Given the description of an element on the screen output the (x, y) to click on. 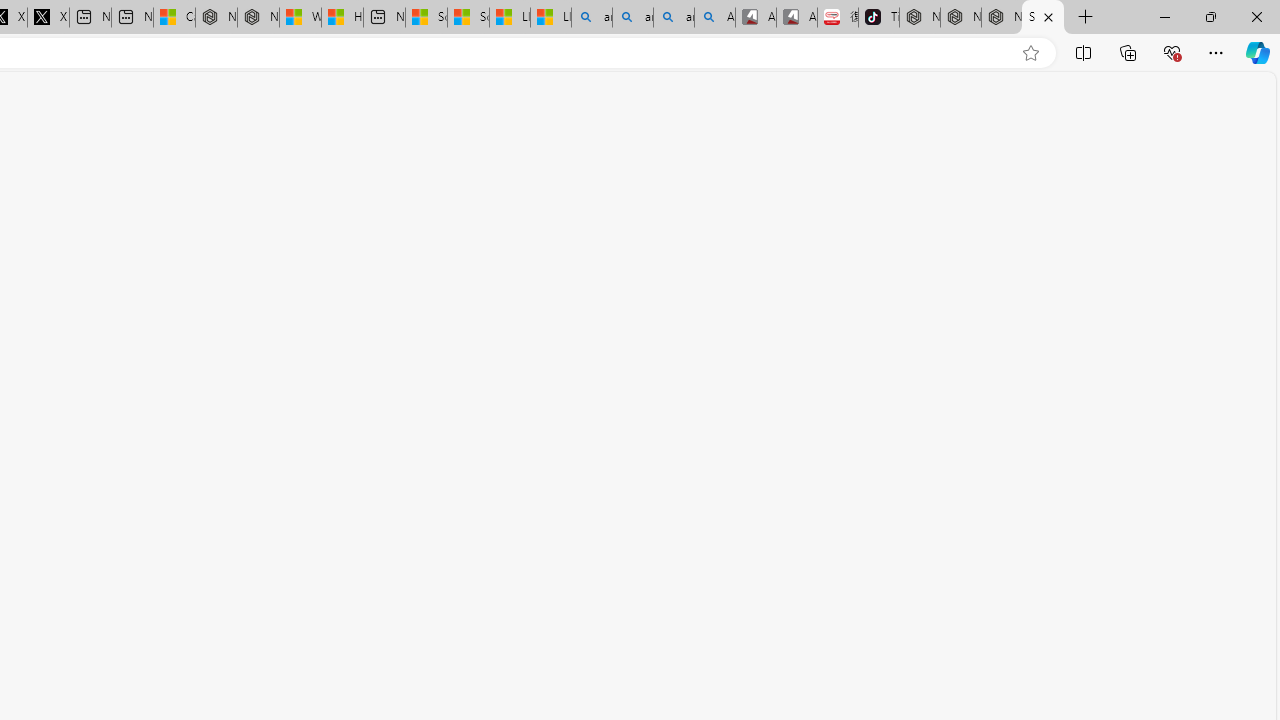
TikTok (878, 17)
Settings (1042, 17)
amazon - Search (632, 17)
Nordace Siena Pro 15 Backpack (960, 17)
Nordace - Best Sellers (919, 17)
